Given the description of an element on the screen output the (x, y) to click on. 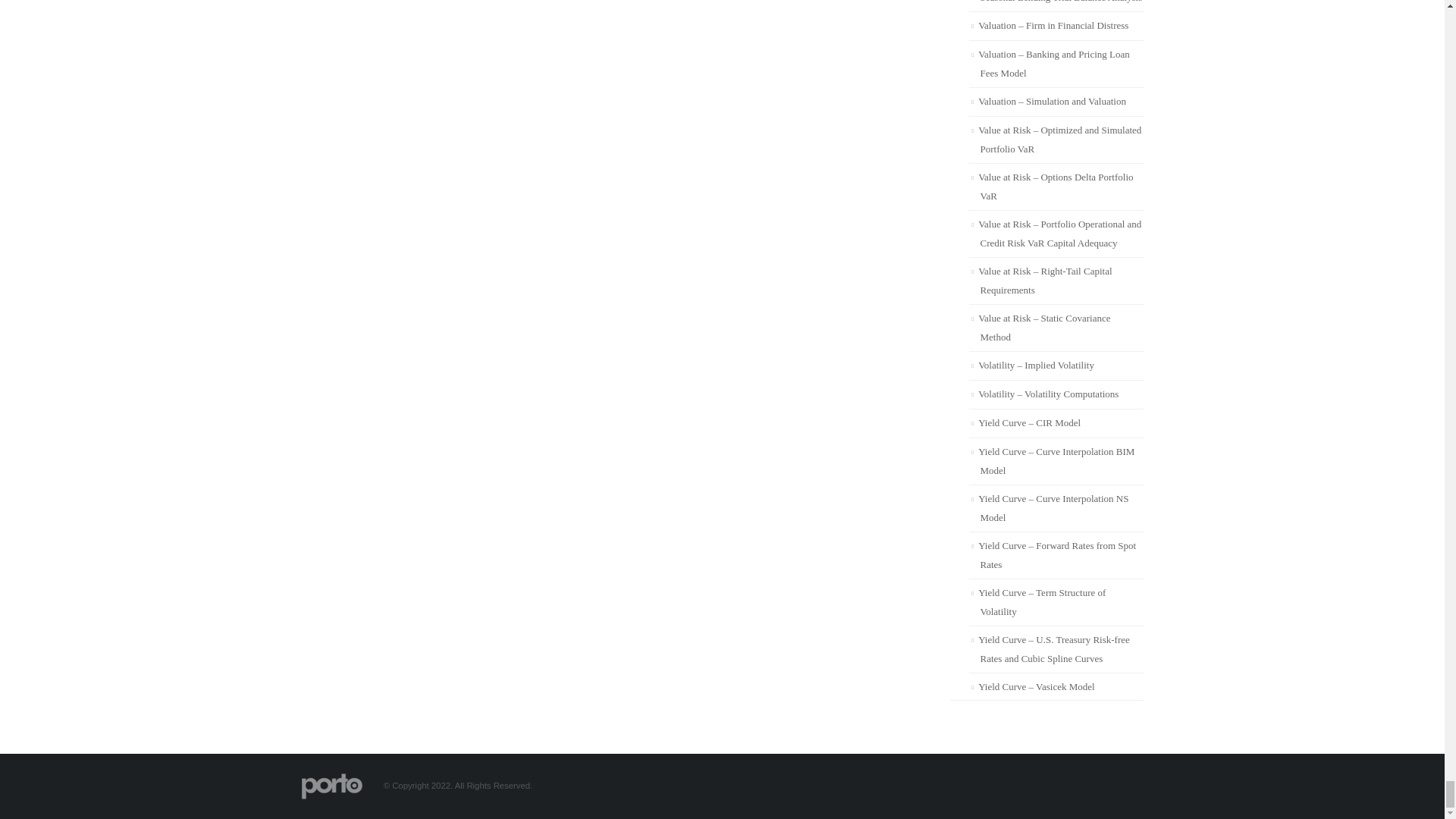
ROV - ROVUSA (331, 785)
